Given the description of an element on the screen output the (x, y) to click on. 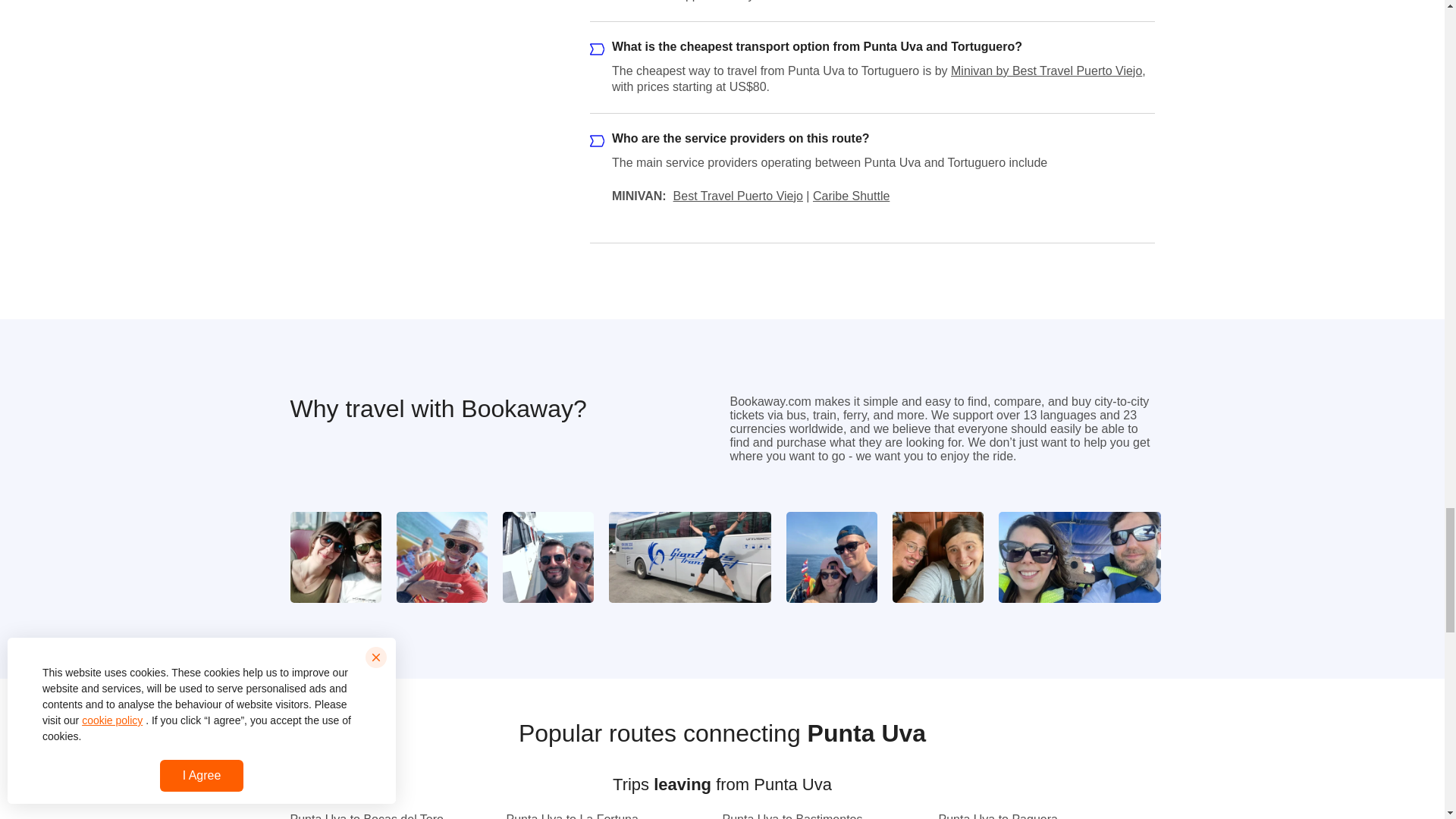
Caribe Shuttle (850, 195)
Punta Uva to Bocas del Toro (374, 816)
Best Travel Puerto Viejo (737, 195)
Minivan by Best Travel Puerto Viejo (1045, 70)
